Given the description of an element on the screen output the (x, y) to click on. 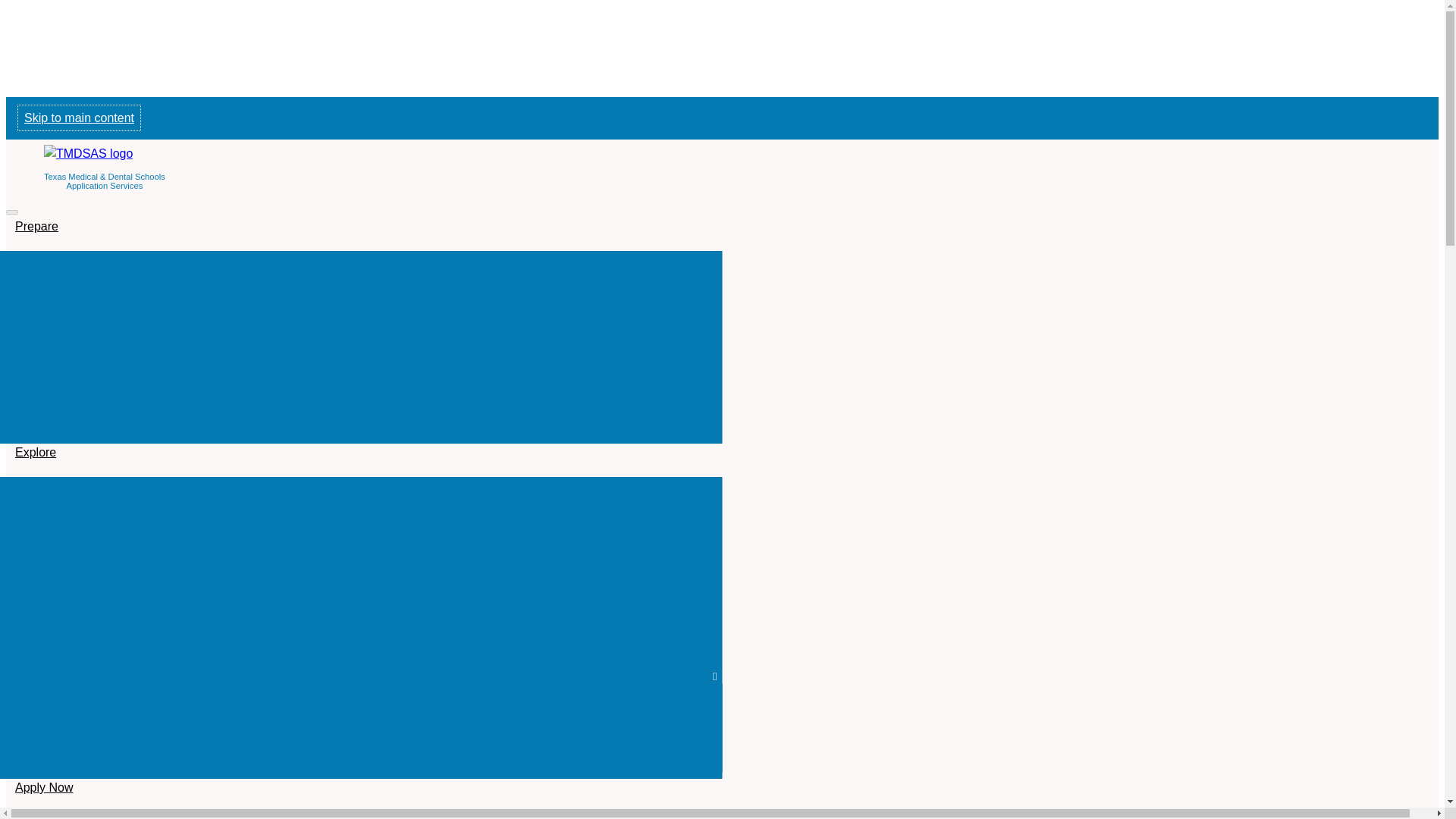
Apply Now (43, 764)
Parents (361, 347)
Education Requirements (361, 547)
Member Institutions (361, 495)
Texas Residency Determination (361, 650)
Re-Applicants (361, 398)
Medical (361, 727)
Letters of Evaluation (361, 573)
Inside Health Education Newsroom (361, 269)
